Given the description of an element on the screen output the (x, y) to click on. 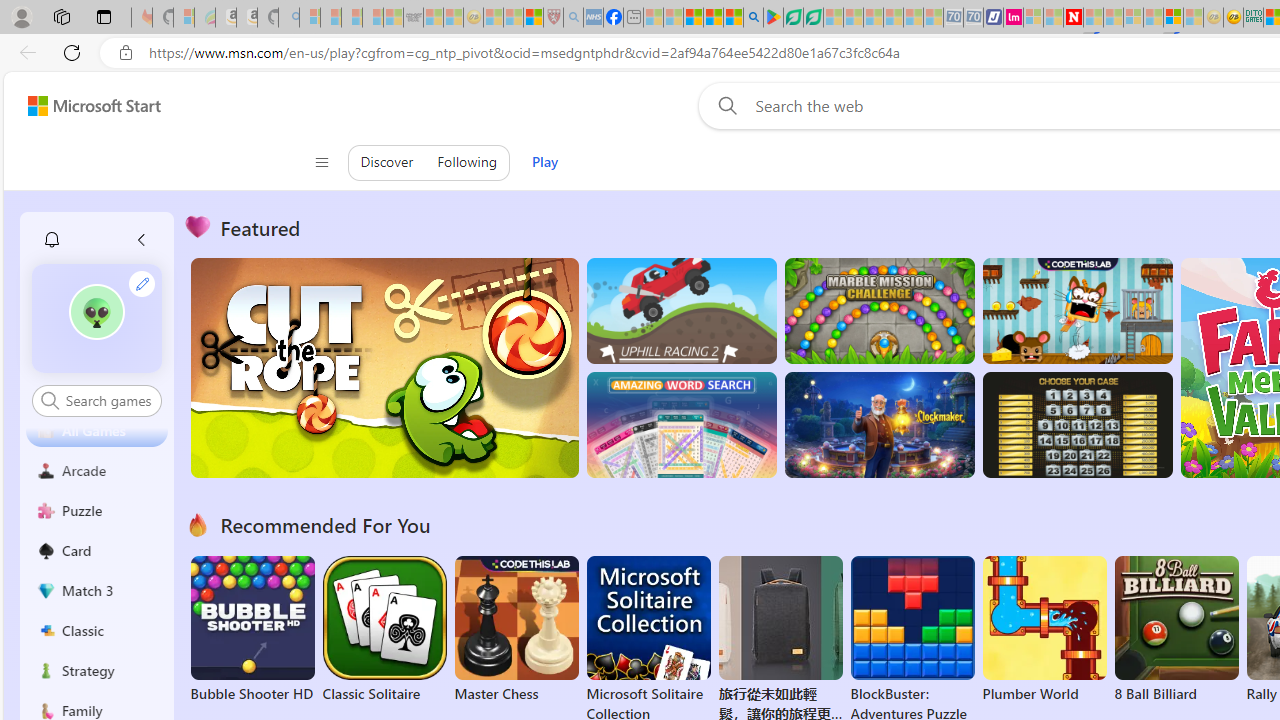
Local - MSN (532, 17)
